Given the description of an element on the screen output the (x, y) to click on. 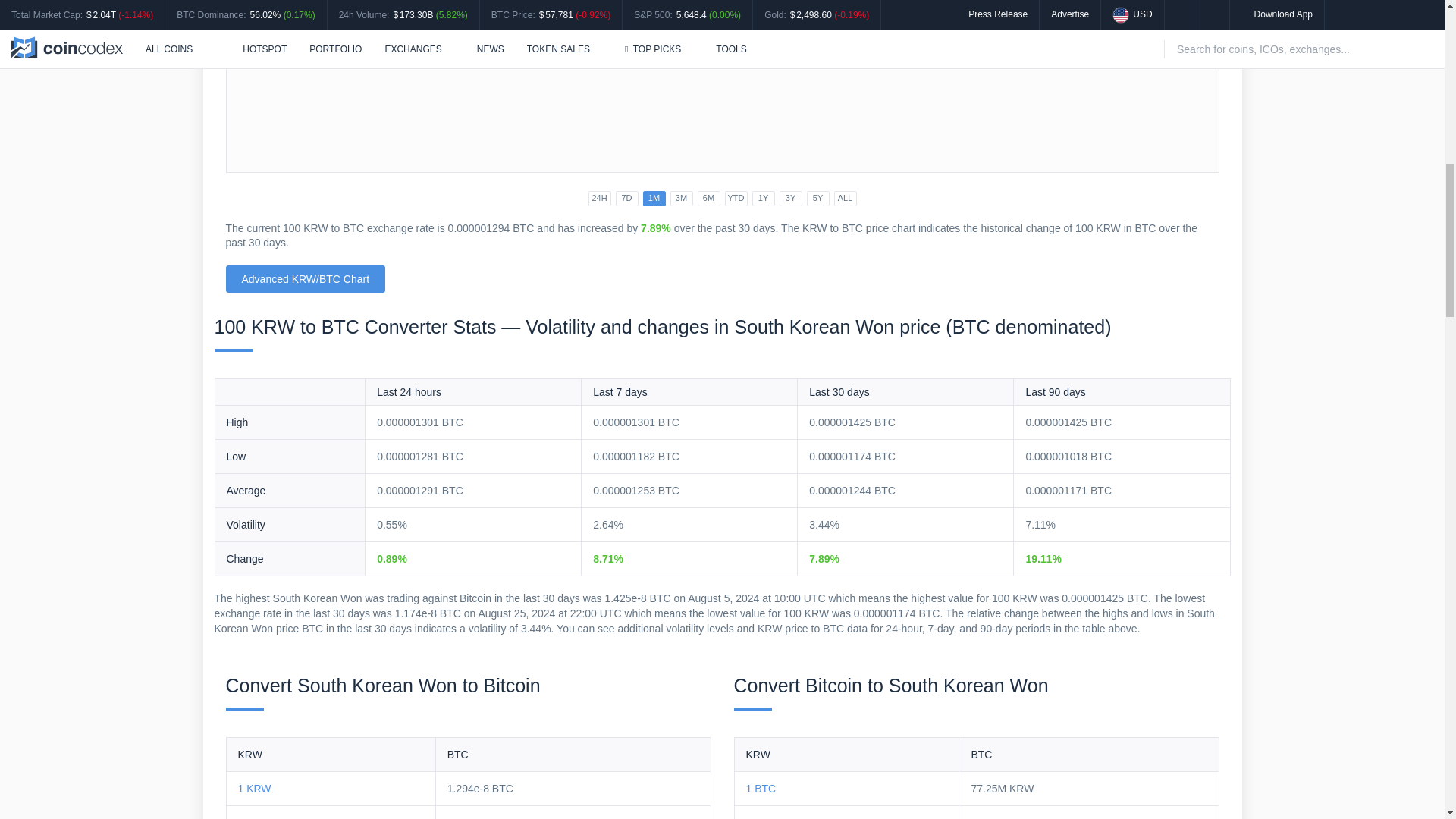
5 BTC (760, 817)
1 KRW (254, 788)
5 KRW (254, 817)
1 BTC (760, 788)
